Given the description of an element on the screen output the (x, y) to click on. 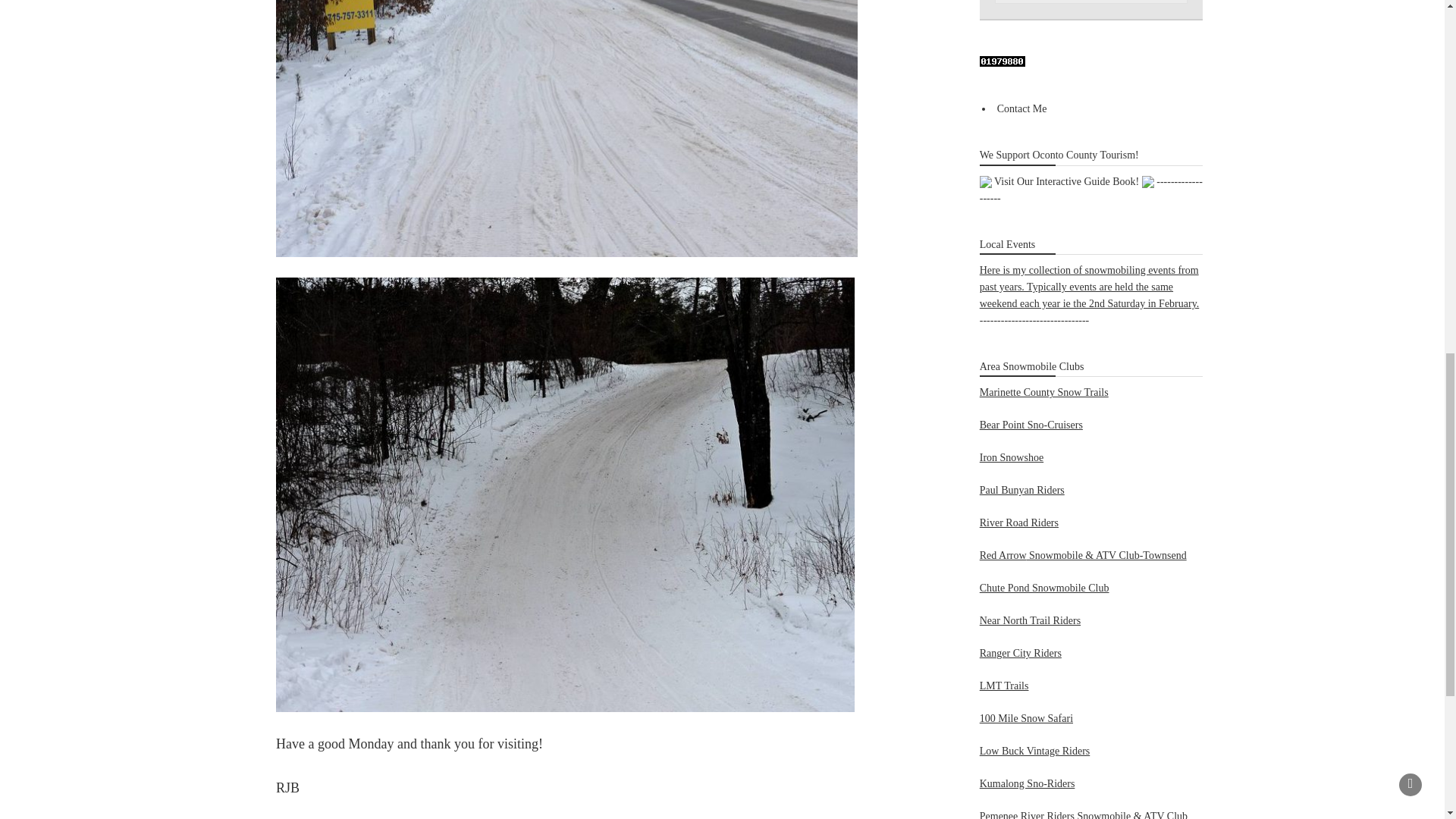
Contact Me (1021, 108)
